Given the description of an element on the screen output the (x, y) to click on. 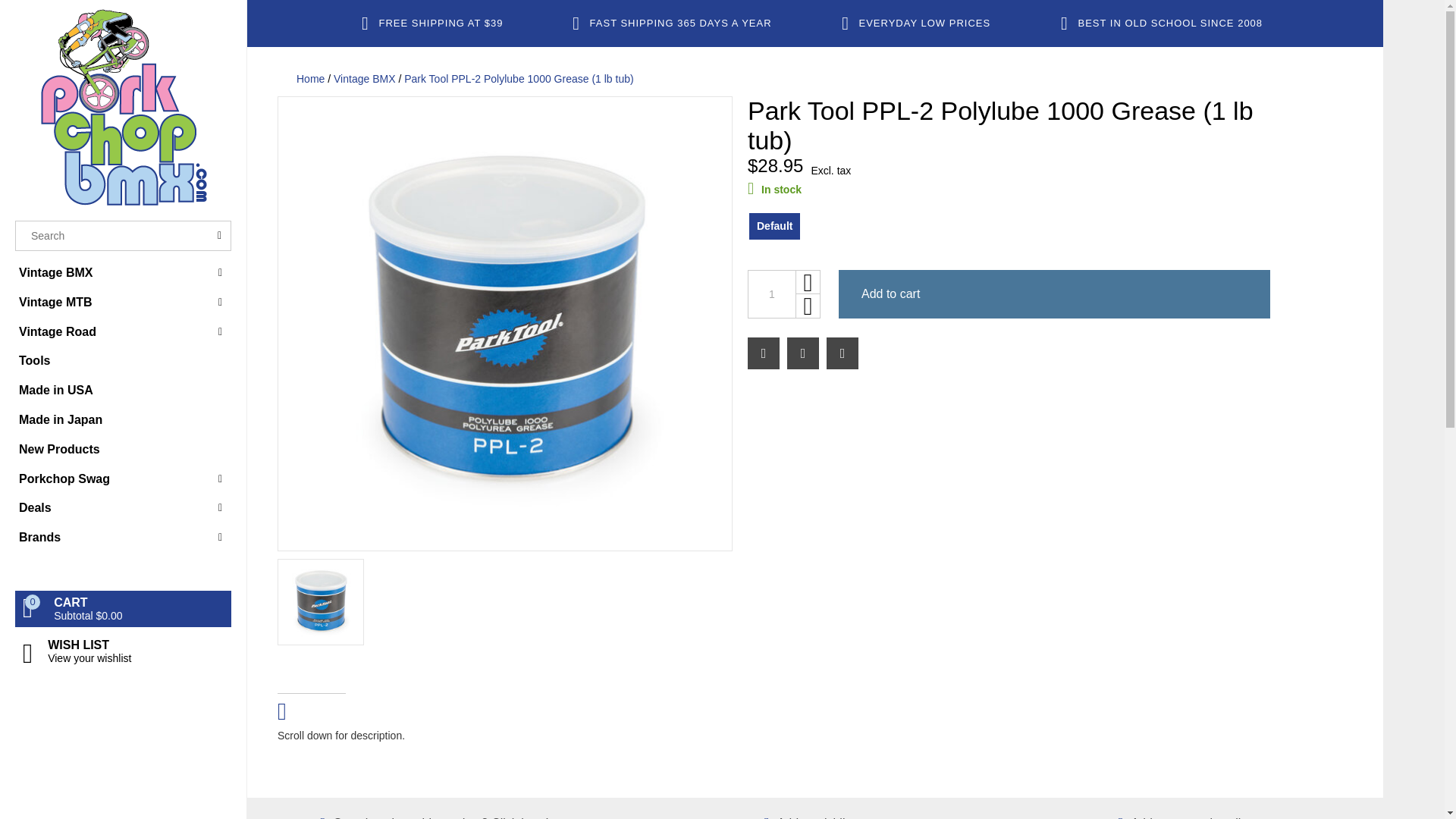
Vintage BMX (122, 273)
Vintage BMX (122, 273)
1 (772, 294)
Porkchop BMX (123, 106)
